Given the description of an element on the screen output the (x, y) to click on. 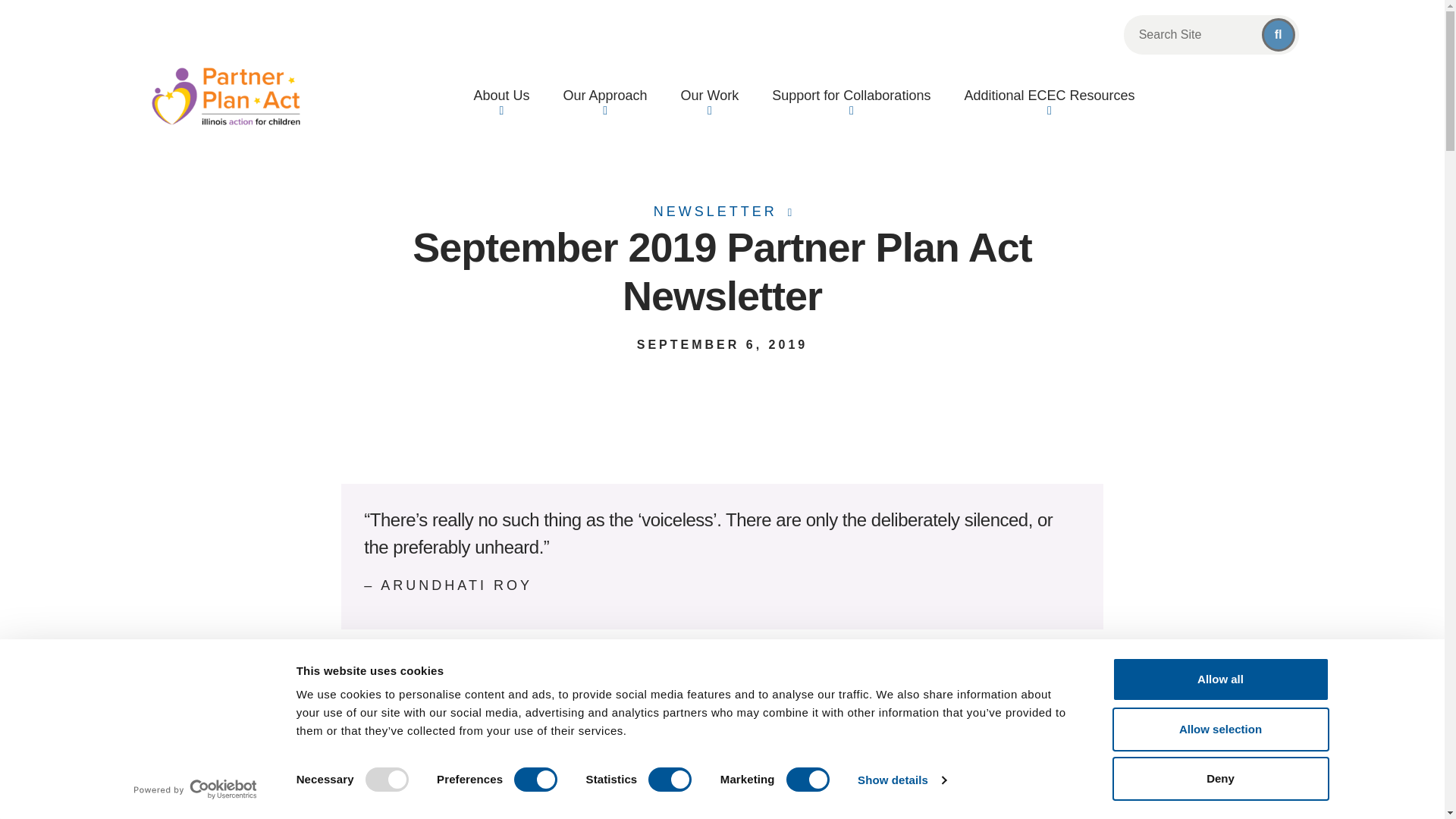
Allow selection (1219, 728)
Show details (900, 780)
Deny (1219, 778)
Back to Home Page (224, 96)
Search (1278, 34)
Allow all (1219, 679)
